Given the description of an element on the screen output the (x, y) to click on. 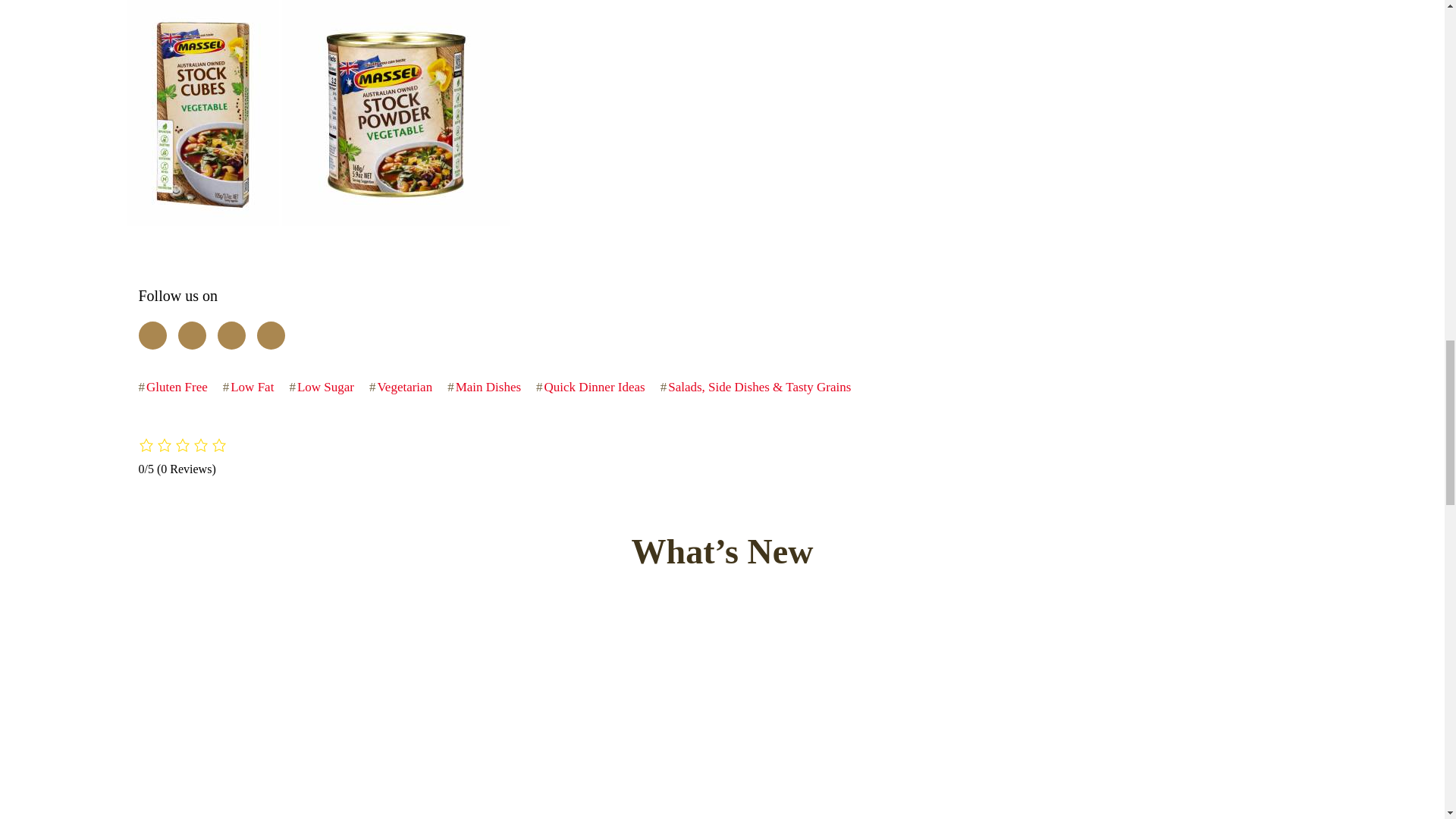
YouTube (230, 335)
Main Dishes (488, 386)
Low Fat (251, 386)
Email us (269, 335)
Low Sugar (325, 386)
Gluten Free (177, 386)
Vegetarian (404, 386)
Instagram (191, 335)
Quick Dinner Ideas (594, 386)
Facebook (151, 335)
